Given the description of an element on the screen output the (x, y) to click on. 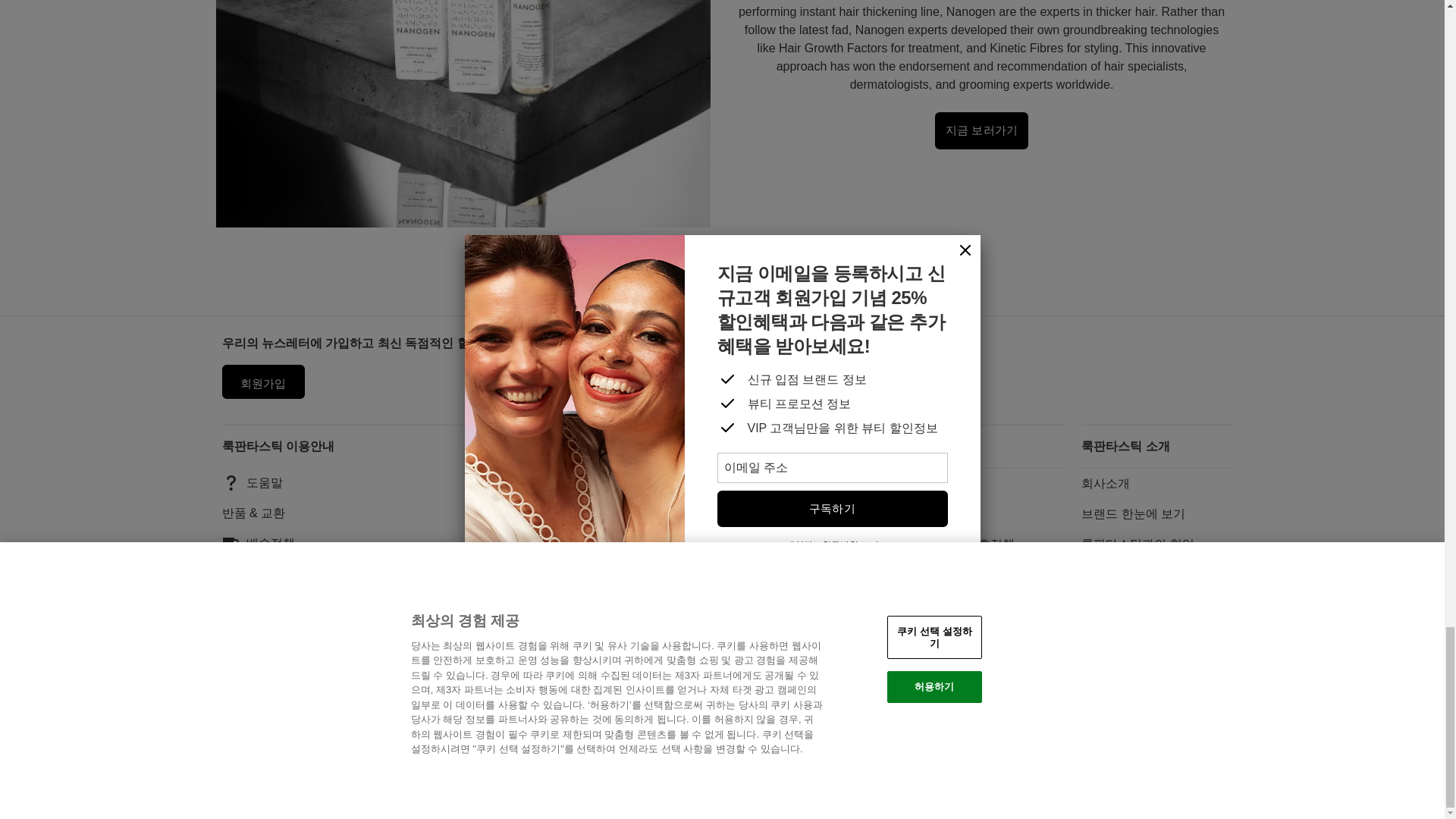
Visa (755, 775)
AMEX (951, 775)
Unionpay (805, 775)
Mastercard (901, 775)
Visa Electron (853, 775)
